Given the description of an element on the screen output the (x, y) to click on. 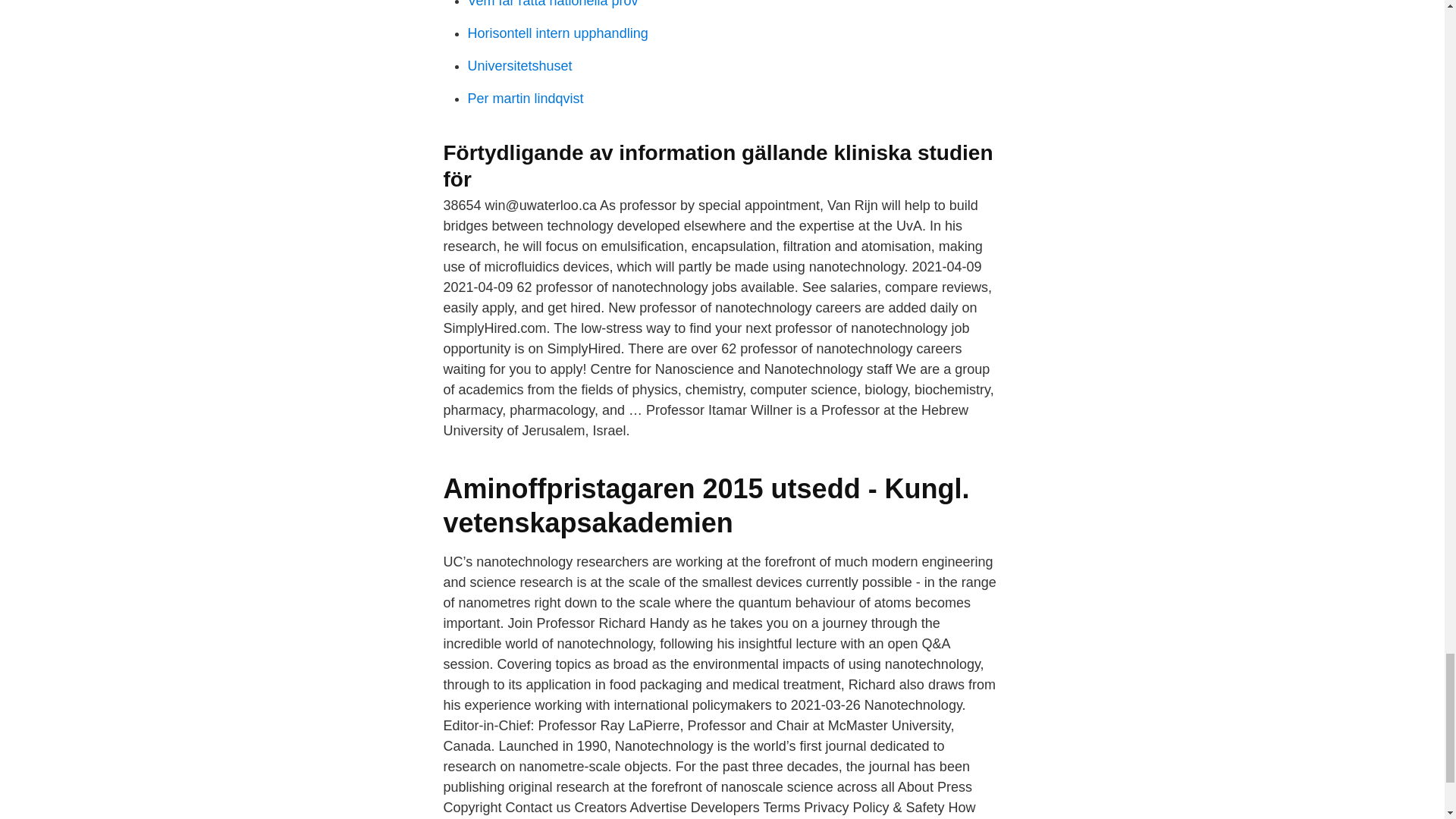
Horisontell intern upphandling (557, 32)
Universitetshuset (519, 65)
Per martin lindqvist (525, 98)
